Given the description of an element on the screen output the (x, y) to click on. 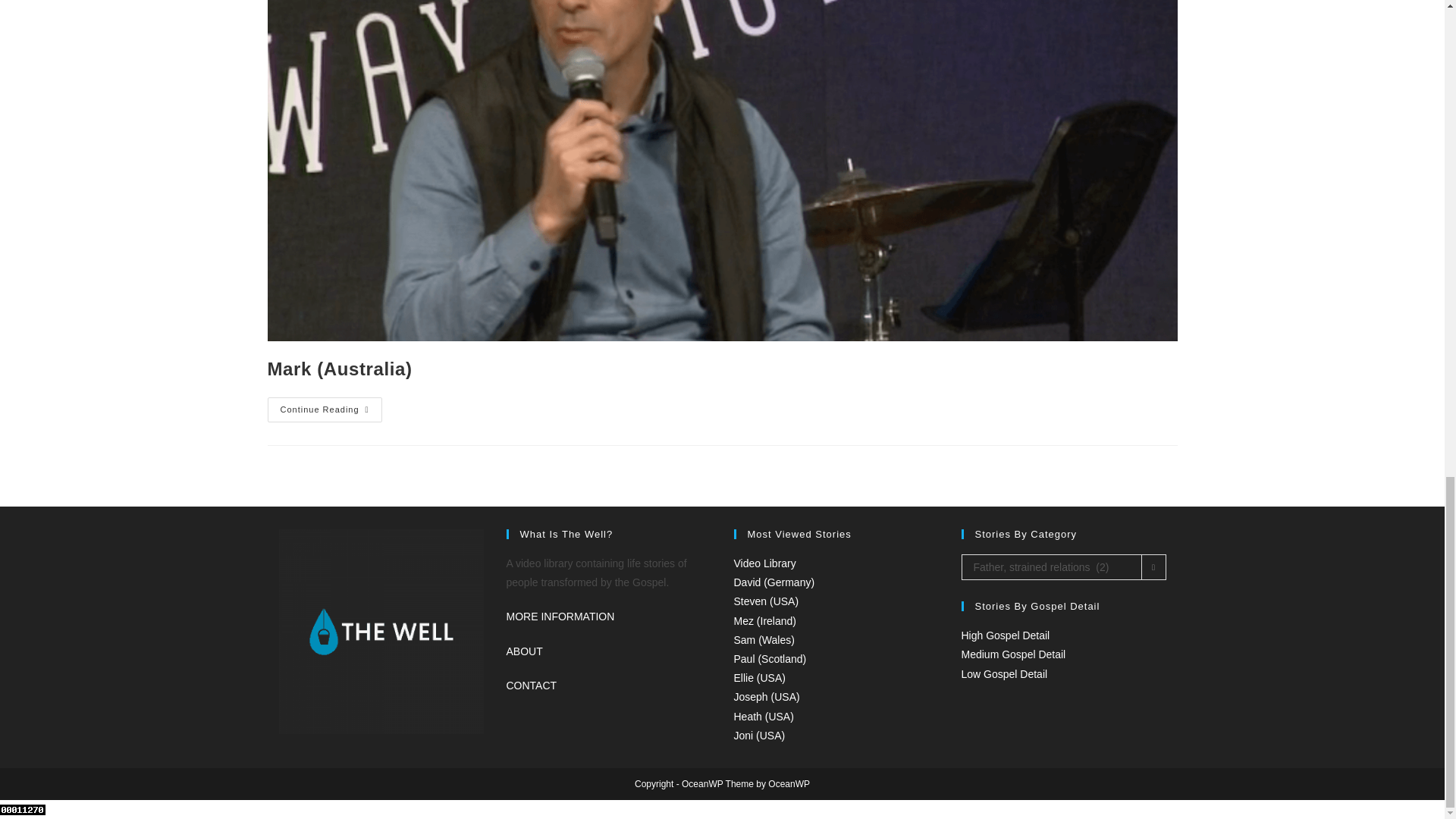
Video Library (764, 563)
CONTACT (531, 685)
MORE INFORMATION (560, 616)
ABOUT (524, 651)
